Given the description of an element on the screen output the (x, y) to click on. 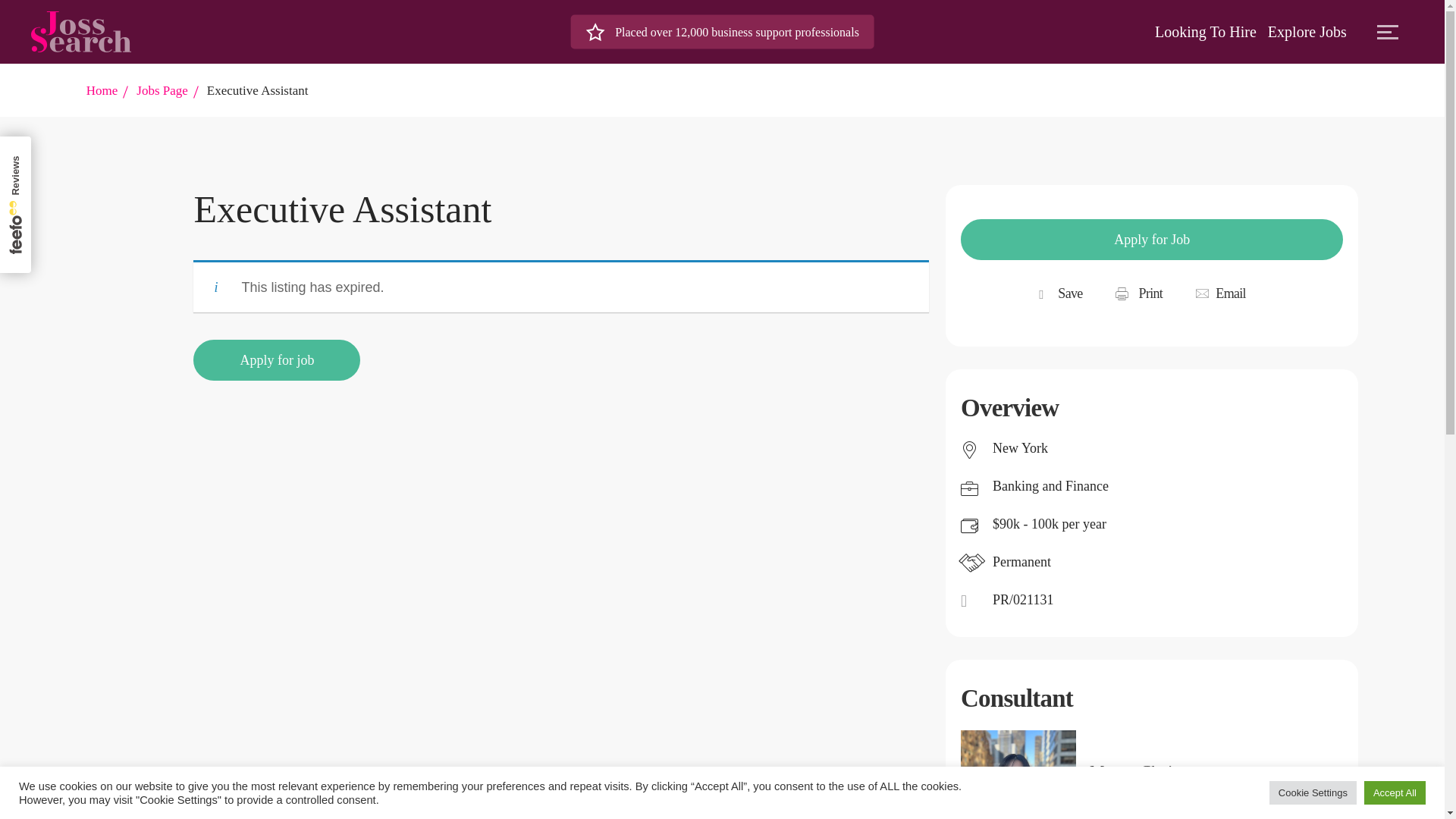
New York (1020, 447)
Email (1220, 293)
Megan Chui (1155, 769)
Jobs Page (161, 90)
Save (1069, 293)
Apply for job (276, 359)
Print (1139, 293)
Explore Jobs (1307, 31)
Home (101, 90)
Apply for Job (1151, 239)
Looking To Hire (1205, 31)
Executive Assistant (257, 90)
